Given the description of an element on the screen output the (x, y) to click on. 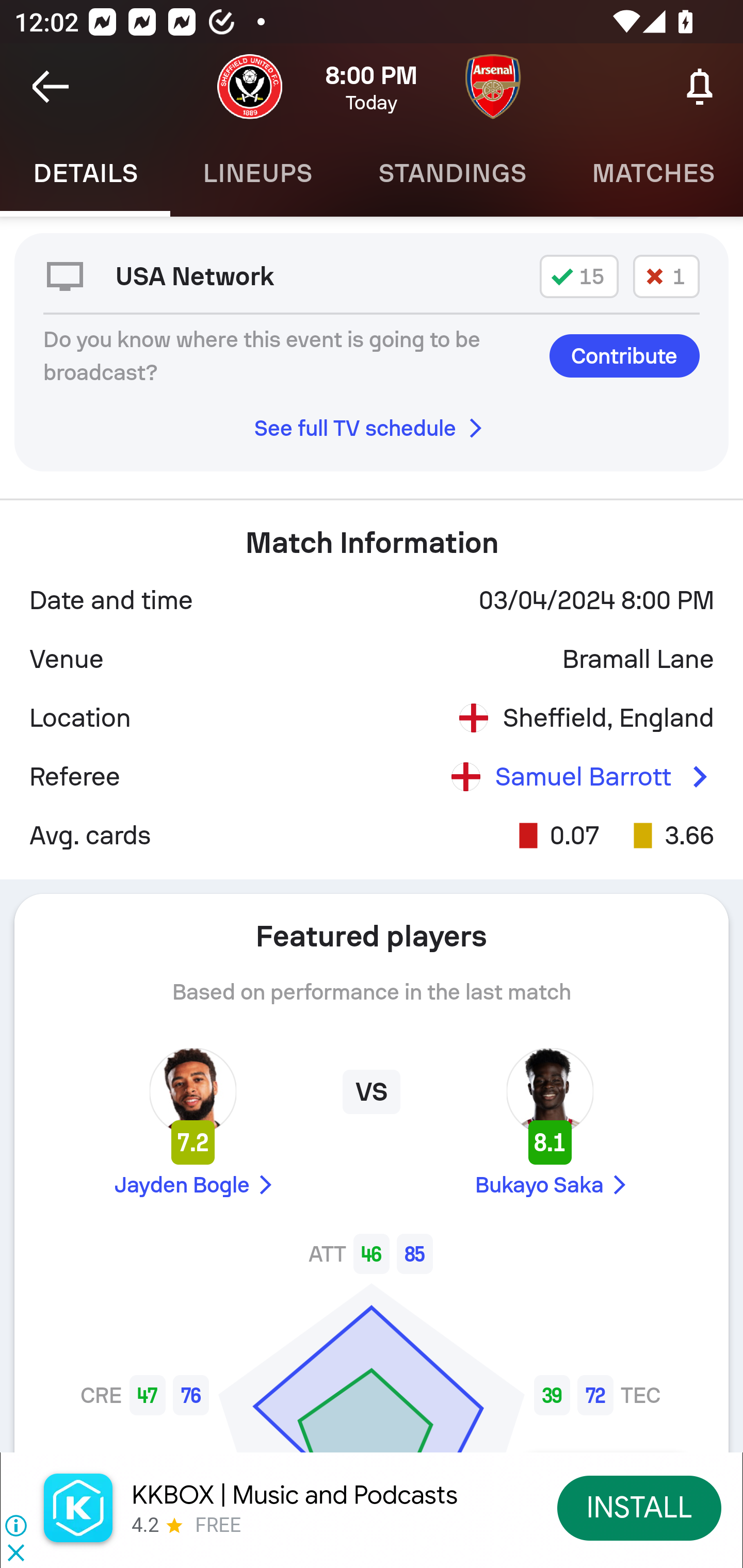
Navigate up (50, 86)
Lineups LINEUPS (257, 173)
Standings STANDINGS (451, 173)
Matches MATCHES (650, 173)
15 (578, 275)
1 (666, 275)
Contribute (624, 355)
See full TV schedule (371, 427)
Referee Samuel Barrott (371, 776)
INSTALL (639, 1507)
KKBOX | Music and Podcasts (294, 1494)
